Given the description of an element on the screen output the (x, y) to click on. 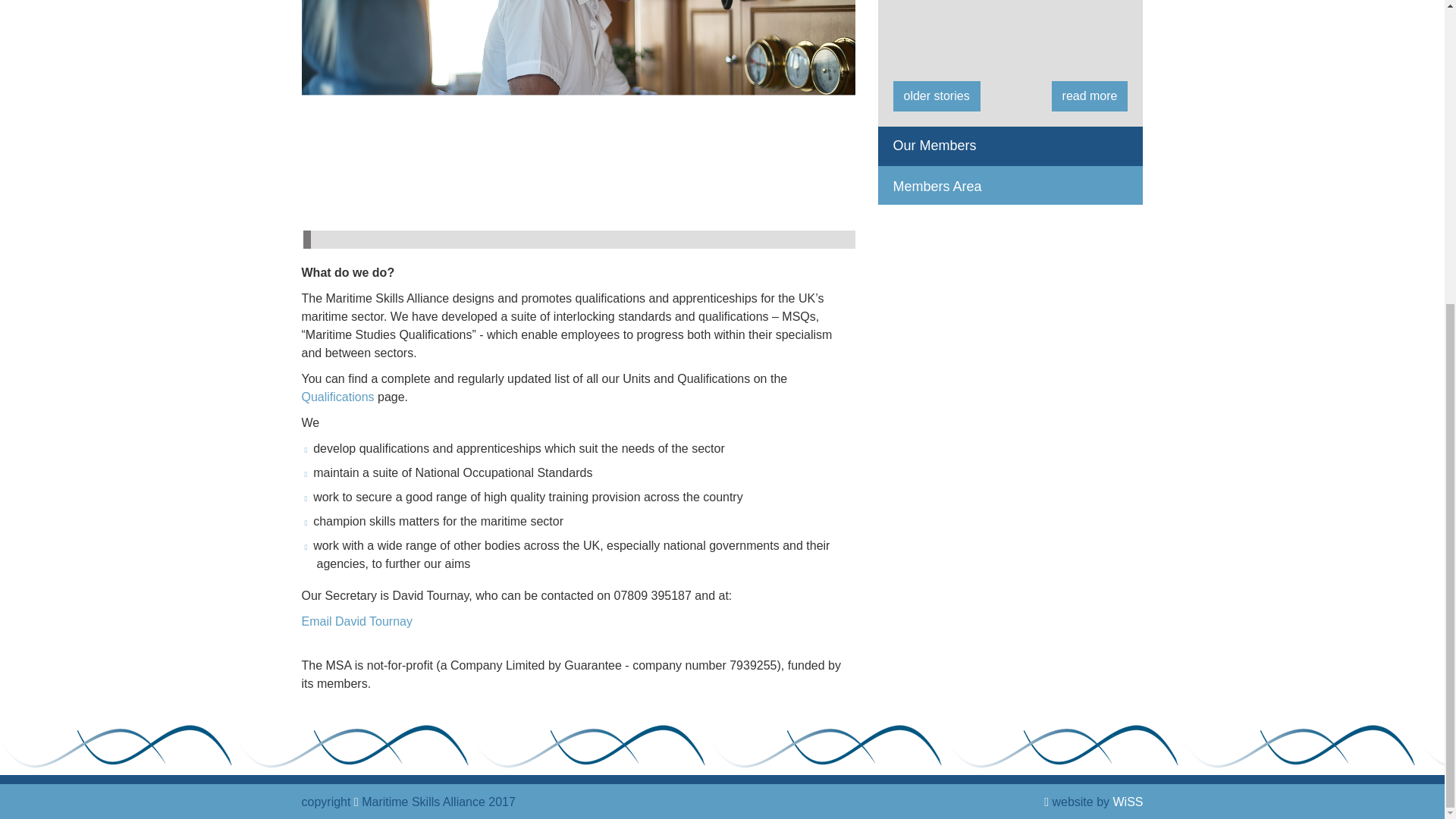
Qualifications (337, 396)
older stories (936, 96)
Our Members (926, 145)
Email David Tournay (356, 621)
read more (1089, 96)
Click to expand (926, 145)
